Given the description of an element on the screen output the (x, y) to click on. 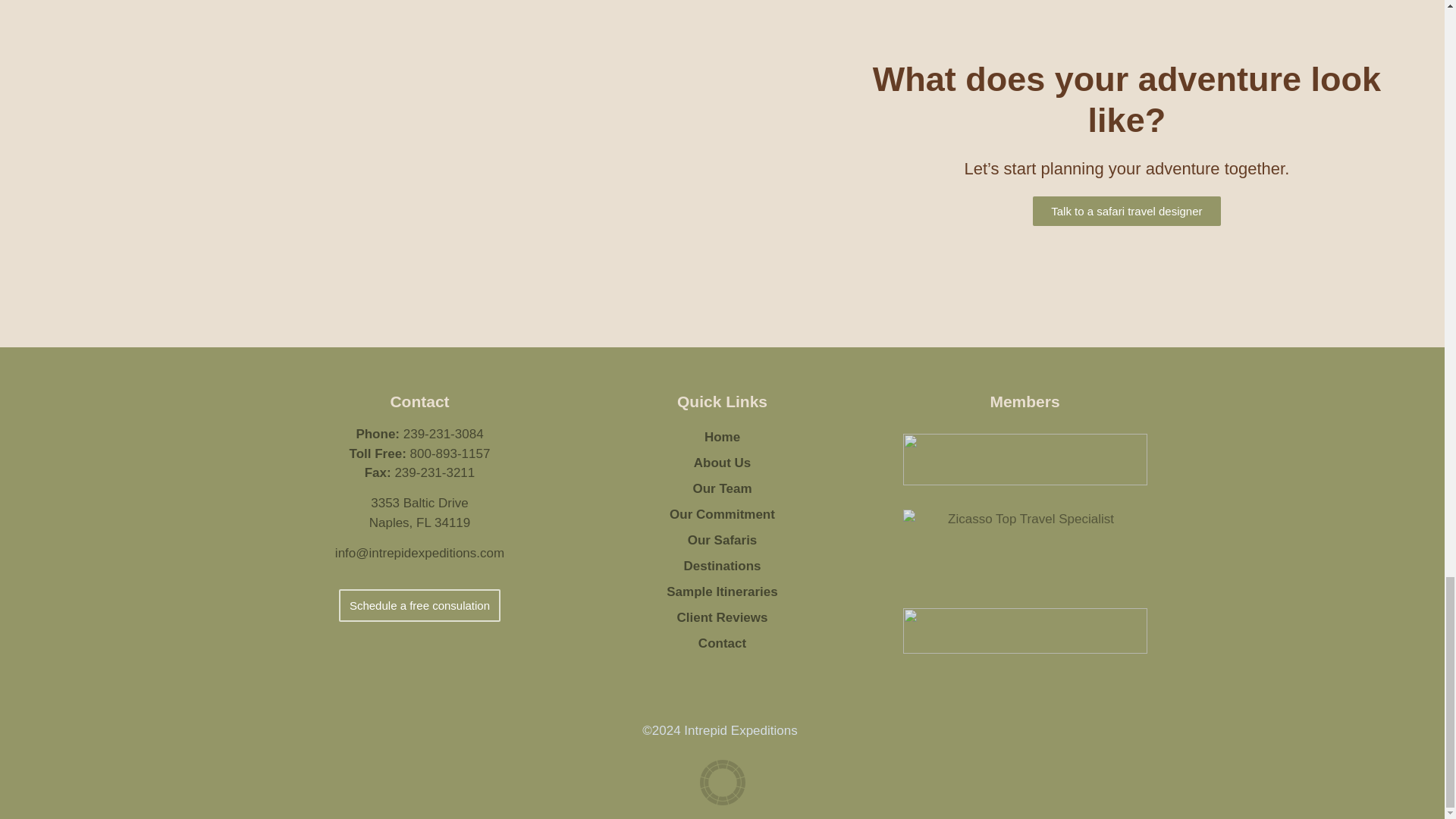
Talk to a safari travel designer (1126, 211)
Designed by Chroma Sites (721, 782)
800-893-1157 (450, 453)
239-231-3084 (443, 433)
